Given the description of an element on the screen output the (x, y) to click on. 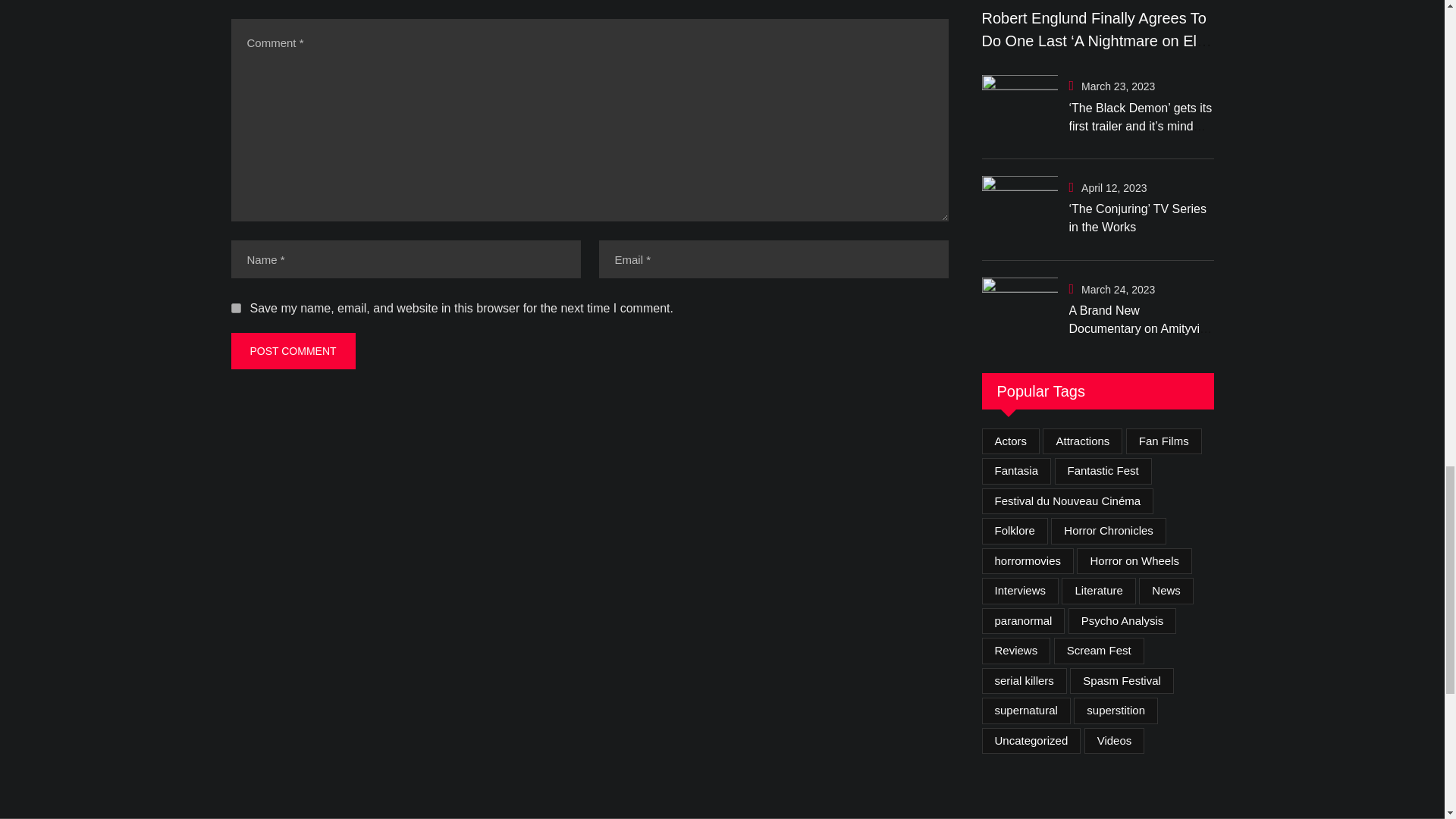
yes (235, 307)
Post Comment (292, 350)
A Brand New Documentary on Amityville is Coming This April (1019, 310)
